Given the description of an element on the screen output the (x, y) to click on. 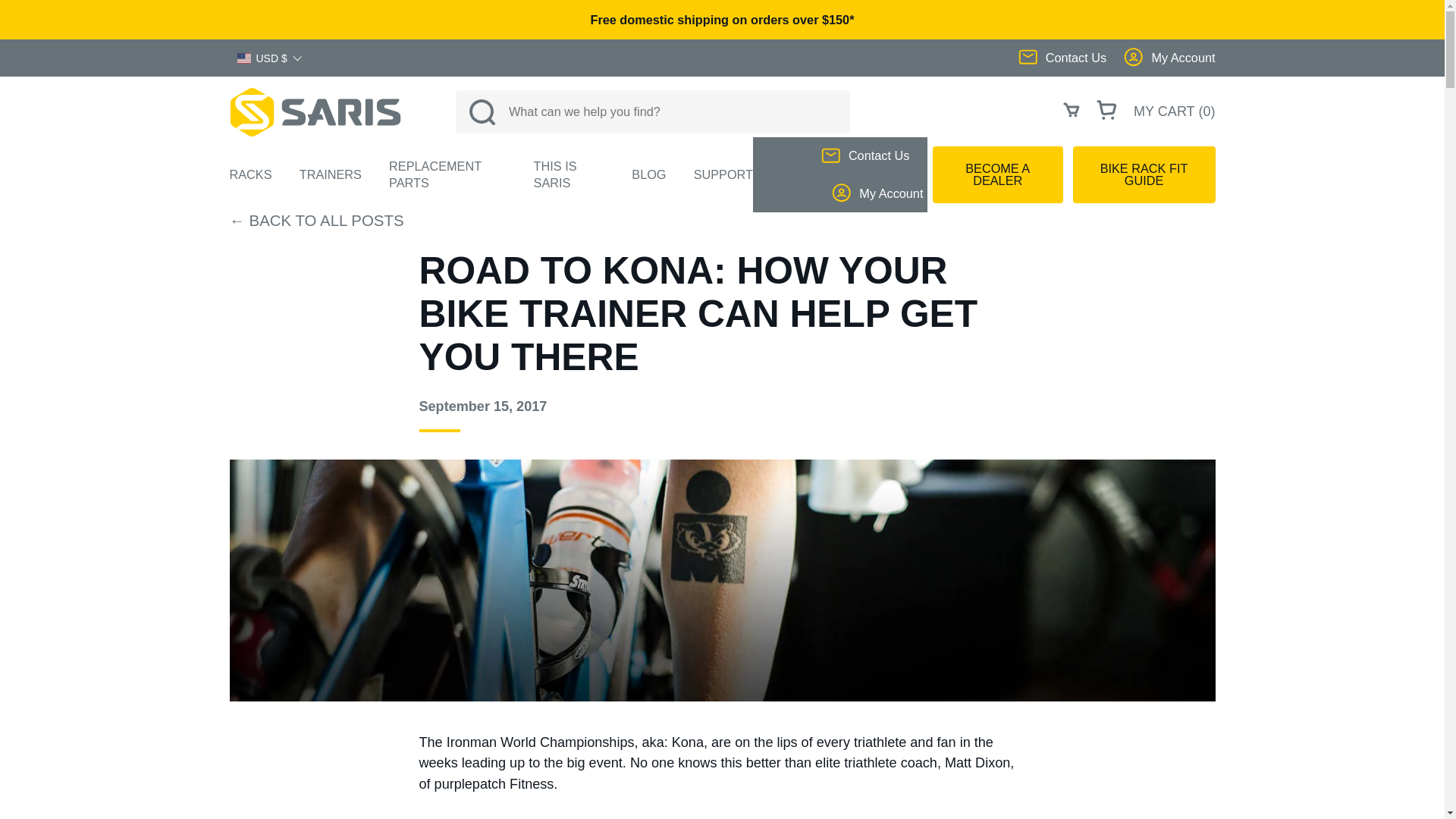
RACKS (250, 174)
TRAINERS (330, 174)
Contact Us (1069, 57)
My Account (1169, 57)
